Given the description of an element on the screen output the (x, y) to click on. 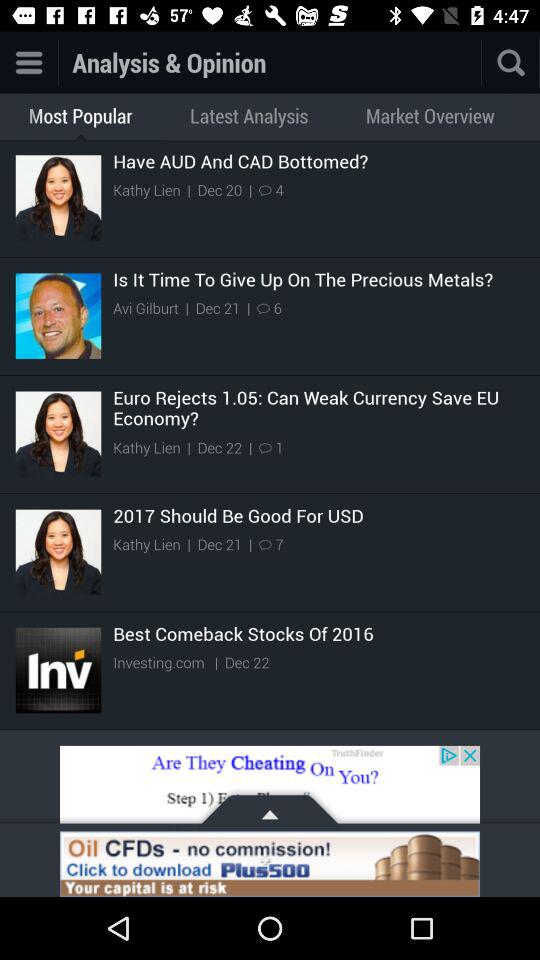
search (511, 62)
